Given the description of an element on the screen output the (x, y) to click on. 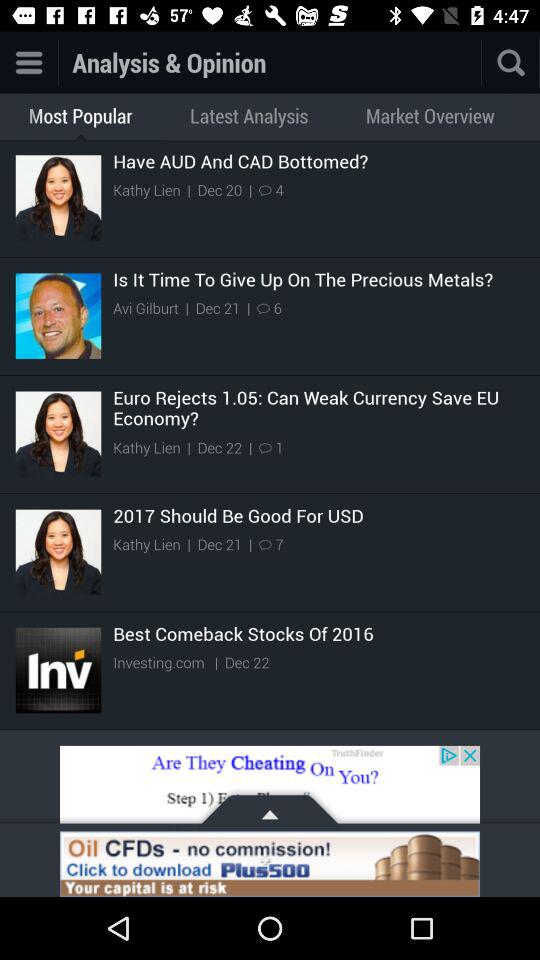
search (511, 62)
